Given the description of an element on the screen output the (x, y) to click on. 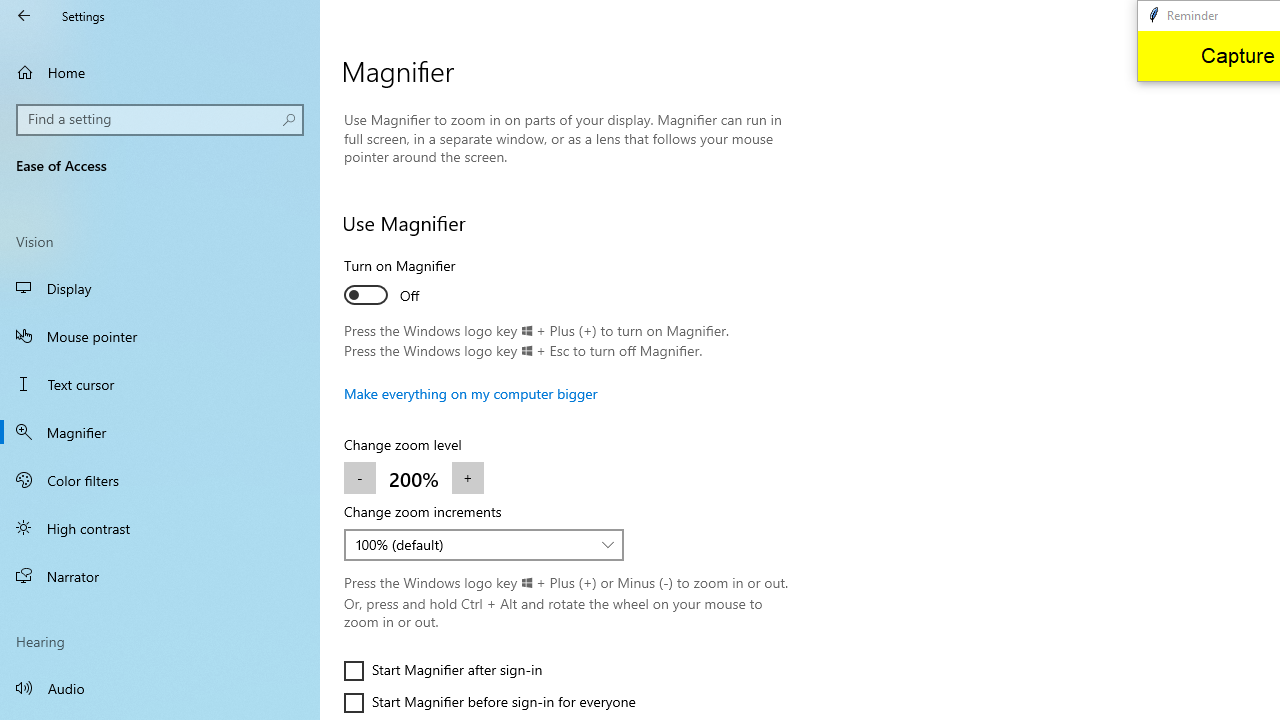
Make everything on my computer bigger (470, 393)
Zoom out (360, 477)
Start Magnifier before sign-in for everyone (490, 702)
Display (160, 287)
Start Magnifier after sign-in (443, 670)
100% (default) (473, 543)
High contrast (160, 527)
Mouse pointer (160, 335)
Home (160, 71)
Color filters (160, 479)
Turn on Magnifier (417, 283)
Narrator (160, 575)
Change zoom increments (484, 544)
Audio (160, 687)
Magnifier (160, 431)
